Given the description of an element on the screen output the (x, y) to click on. 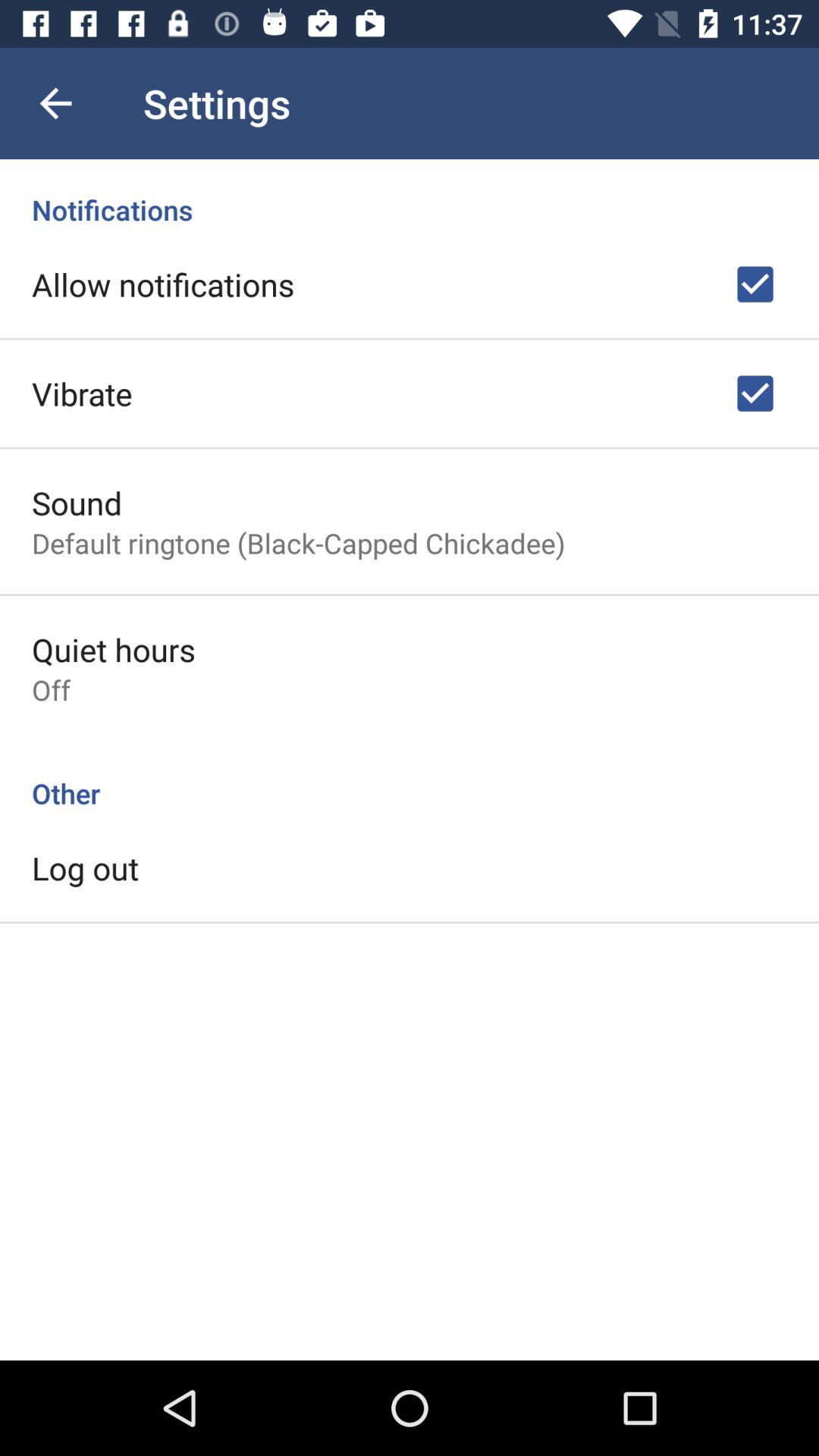
tap the icon above the quiet hours item (298, 542)
